Given the description of an element on the screen output the (x, y) to click on. 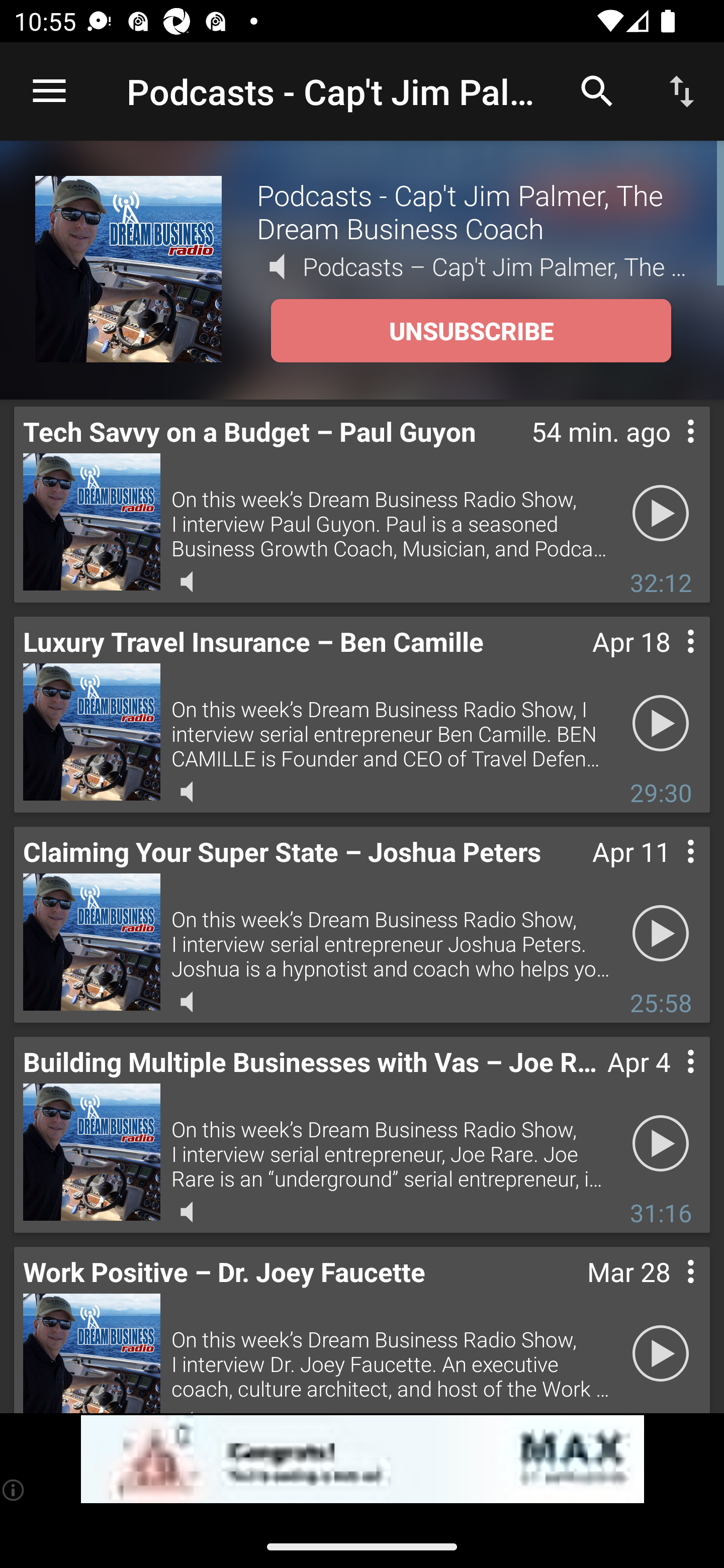
Open navigation sidebar (49, 91)
Search (597, 90)
Sort (681, 90)
UNSUBSCRIBE (470, 330)
Contextual menu (668, 451)
Play (660, 513)
Contextual menu (668, 661)
Play (660, 723)
Contextual menu (668, 870)
Play (660, 933)
Contextual menu (668, 1080)
Play (660, 1143)
Contextual menu (668, 1290)
Play (660, 1353)
app-monetization (362, 1459)
(i) (14, 1489)
